Given the description of an element on the screen output the (x, y) to click on. 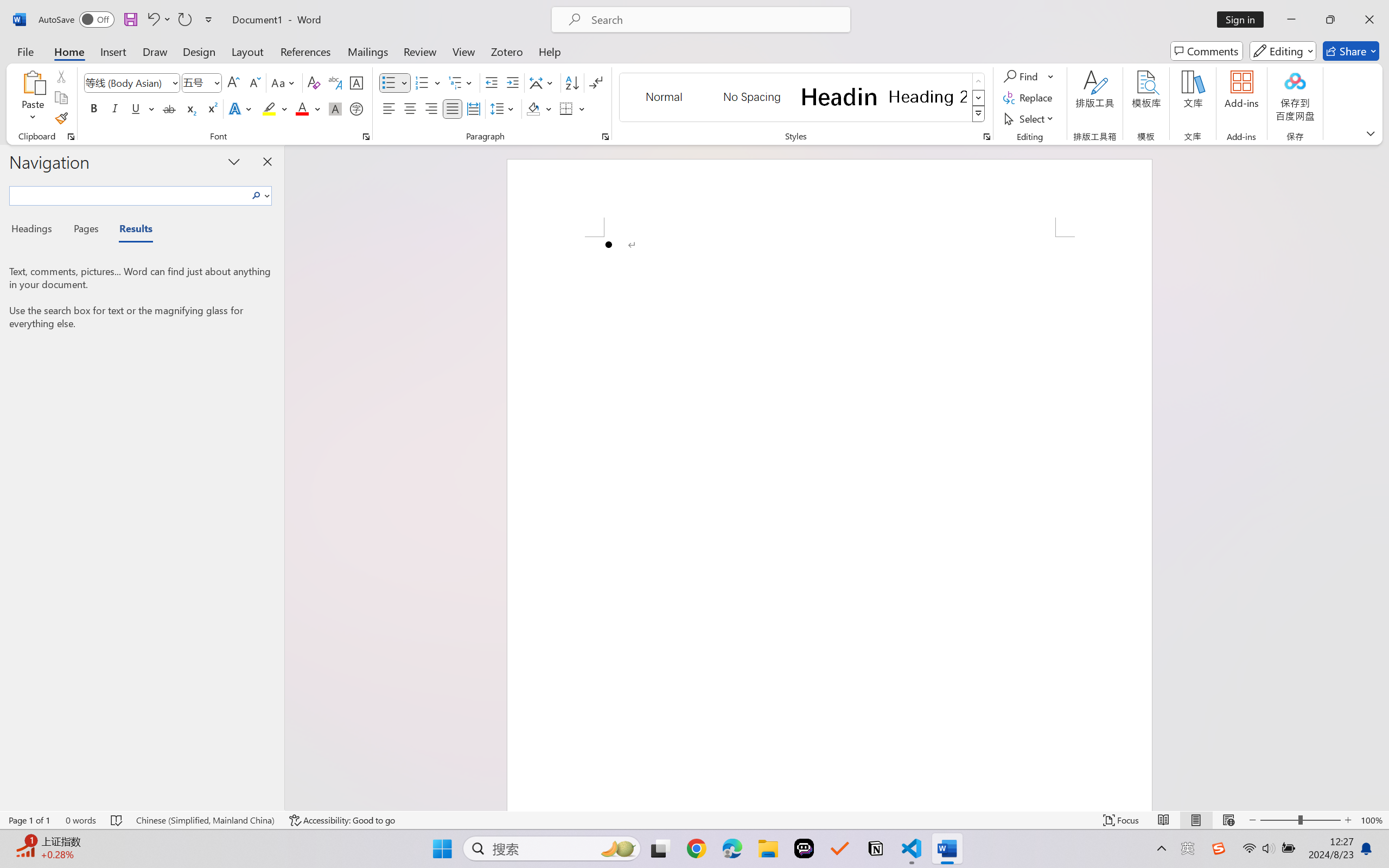
Undo Bullet Default (152, 19)
Headings (35, 229)
